Given the description of an element on the screen output the (x, y) to click on. 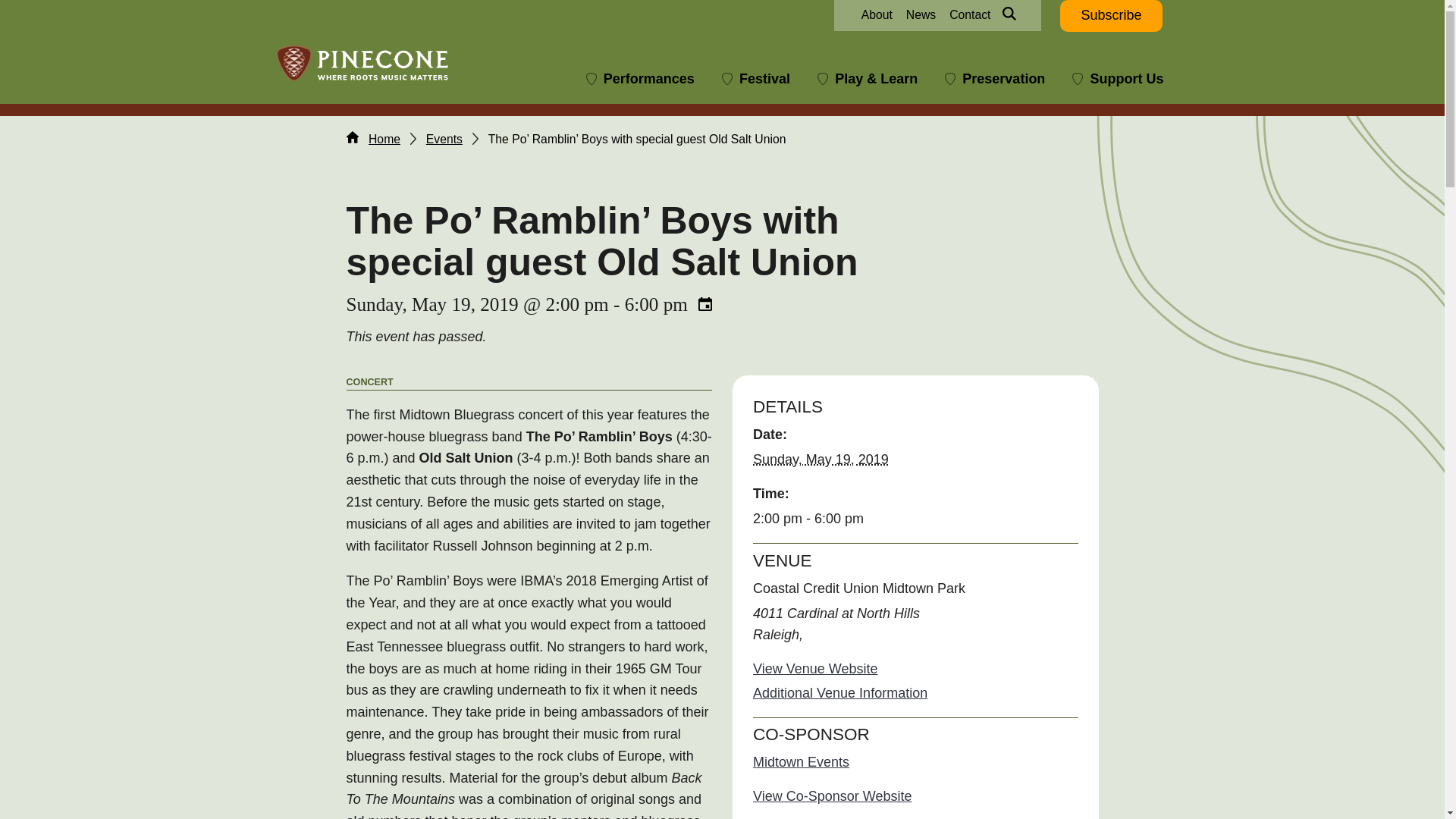
2019-05-19 (820, 459)
Support Us (1117, 79)
Contact (969, 15)
Midtown Events (800, 761)
Performances (639, 79)
News (920, 15)
Festival (755, 79)
Home (373, 138)
2019-05-19 (915, 518)
Subscribe (1110, 15)
Events (444, 138)
About (876, 15)
Preservation (994, 79)
